Given the description of an element on the screen output the (x, y) to click on. 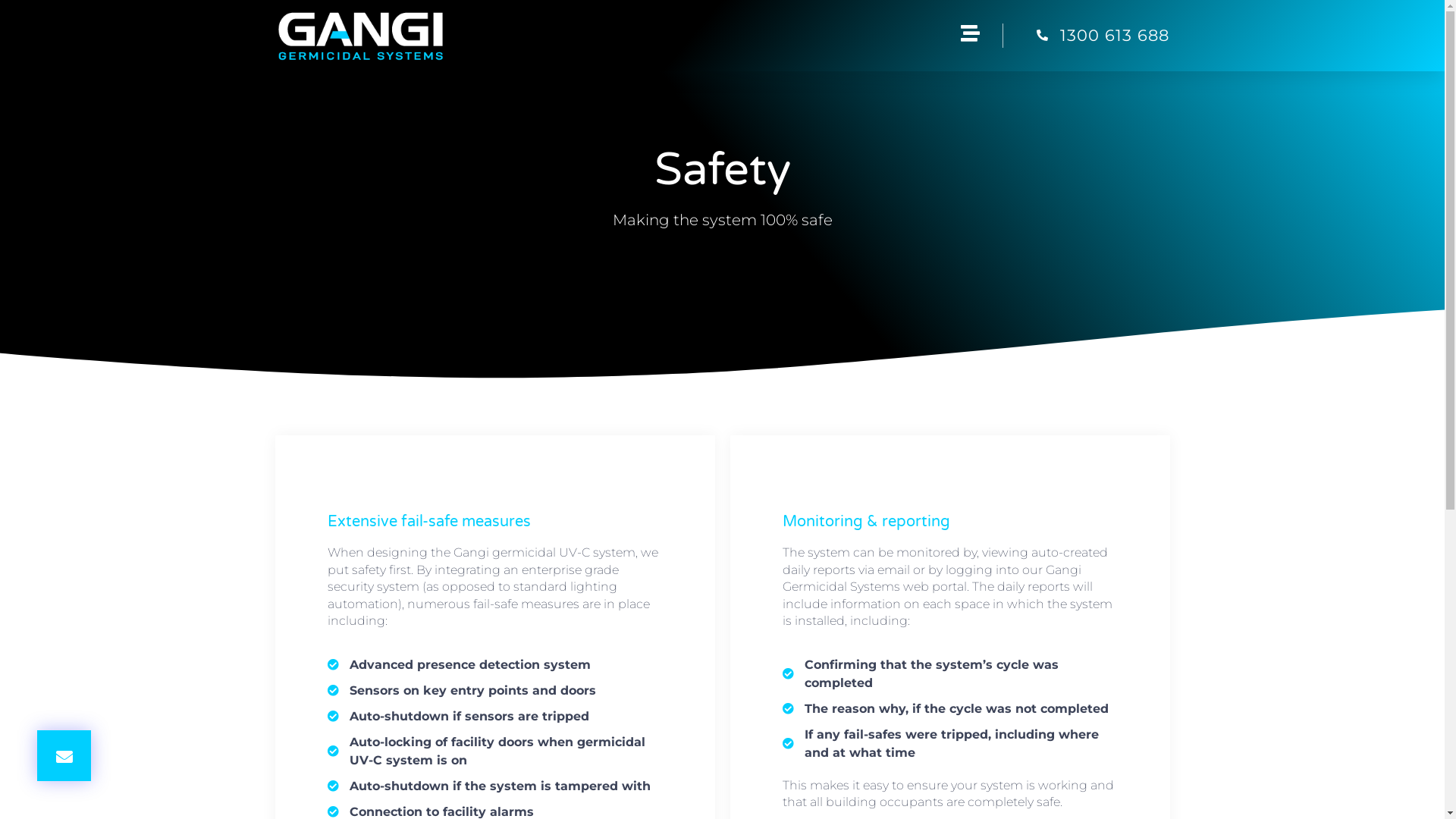
1300 613 688 Element type: text (1086, 35)
